Given the description of an element on the screen output the (x, y) to click on. 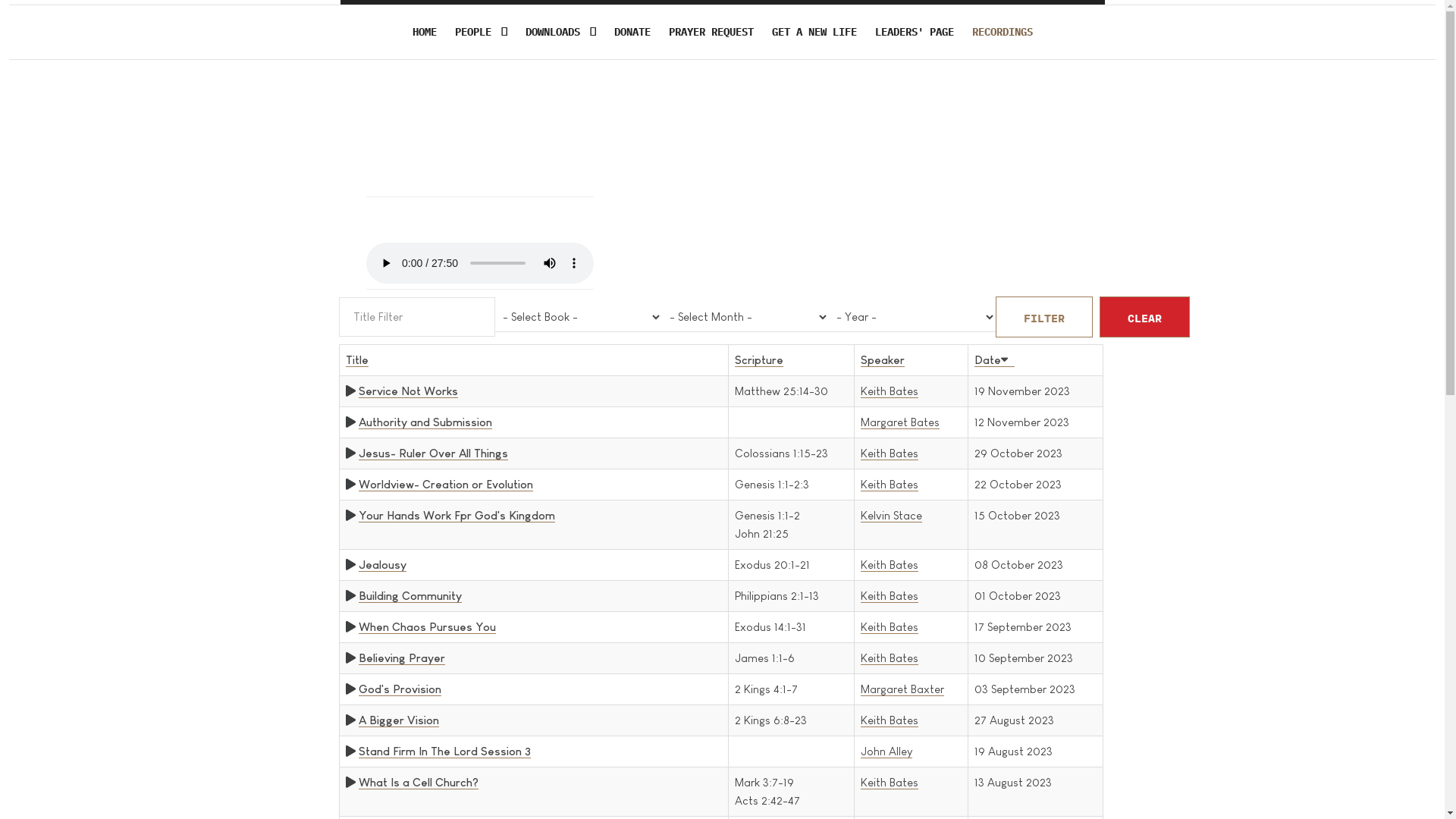
Keith Bates Element type: text (889, 453)
LEADERS' PAGE Element type: text (914, 31)
PRAYER REQUEST Element type: text (710, 31)
Keith Bates Element type: text (889, 595)
Keith Bates Element type: text (889, 720)
Scripture Element type: text (758, 360)
DONATE Element type: text (632, 31)
Margaret Baxter Element type: text (902, 689)
A Bigger Vision Element type: text (397, 720)
Jealousy Element type: text (381, 564)
Your Hands Work Fpr God's Kingdom Element type: text (455, 515)
Building Community Element type: text (409, 595)
CLEAR Element type: text (1144, 316)
Date Element type: text (994, 360)
HOME Element type: text (424, 31)
Authority and Submission Element type: text (424, 422)
Believing Prayer Element type: text (400, 658)
Keith Bates Element type: text (889, 782)
Keith Bates Element type: text (889, 484)
Worldview- Creation or Evolution Element type: text (444, 484)
What Is a Cell Church? Element type: text (417, 782)
God's Provision Element type: text (398, 689)
Stand Firm In The Lord Session 3 Element type: text (443, 751)
Title Element type: text (356, 360)
When Chaos Pursues You Element type: text (426, 626)
Keith Bates Element type: text (889, 658)
Kelvin Stace Element type: text (891, 515)
Margaret Bates Element type: text (899, 422)
GET A NEW LIFE Element type: text (814, 31)
Keith Bates Element type: text (889, 564)
Speaker Element type: text (882, 360)
John Alley Element type: text (886, 751)
FILTER Element type: text (1043, 316)
Service Not Works Element type: text (407, 391)
Jesus- Ruler Over All Things Element type: text (432, 453)
RECORDINGS Element type: text (1002, 31)
Keith Bates Element type: text (889, 626)
Keith Bates Element type: text (889, 391)
